Given the description of an element on the screen output the (x, y) to click on. 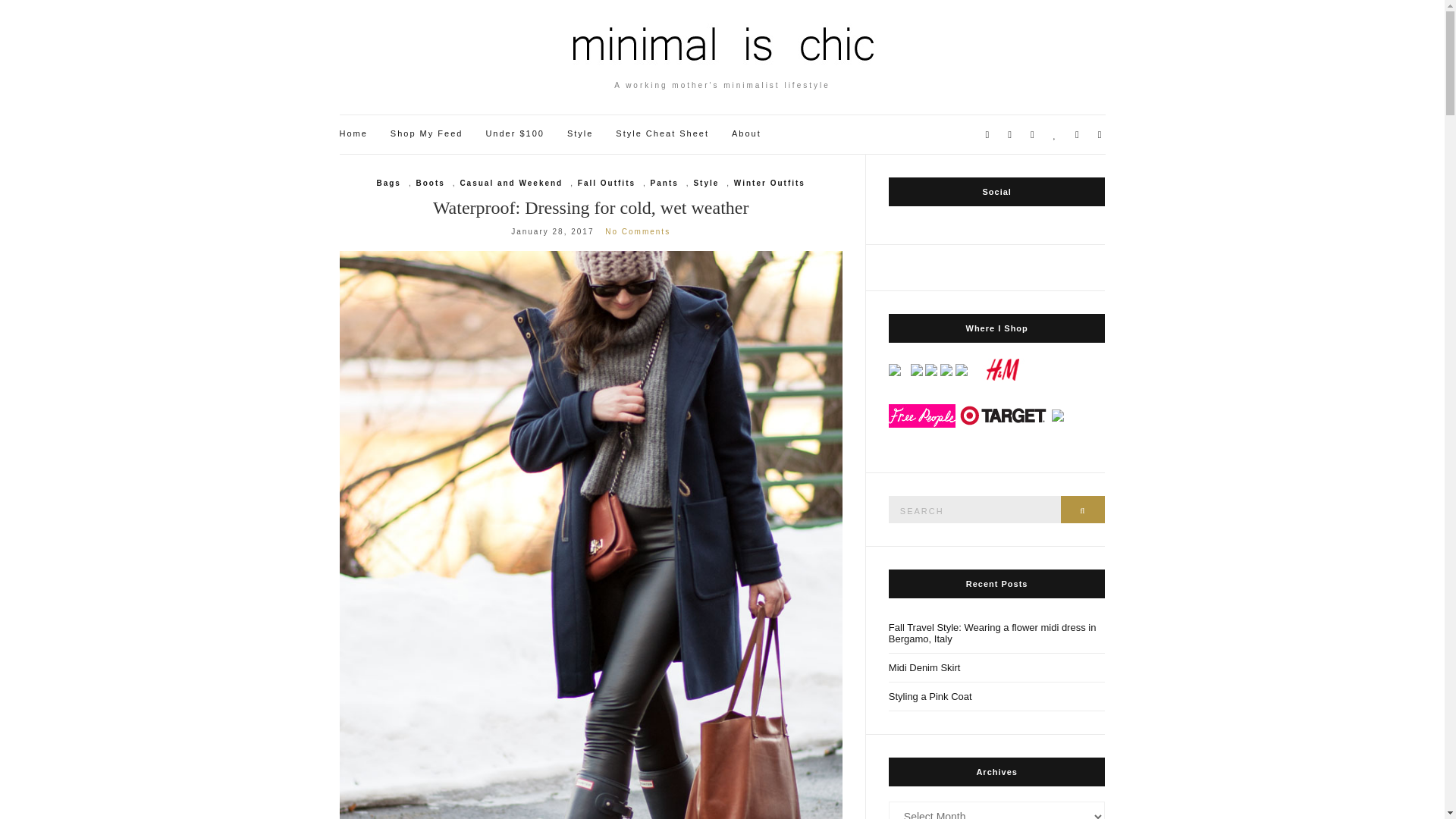
Home (353, 133)
Bags (387, 183)
Casual and Weekend (511, 183)
Style Cheat Sheet (662, 133)
Shop My Feed (426, 133)
Pants (664, 183)
About (746, 133)
Winter Outfits (769, 183)
Fall Outfits (606, 183)
Style (579, 133)
